Given the description of an element on the screen output the (x, y) to click on. 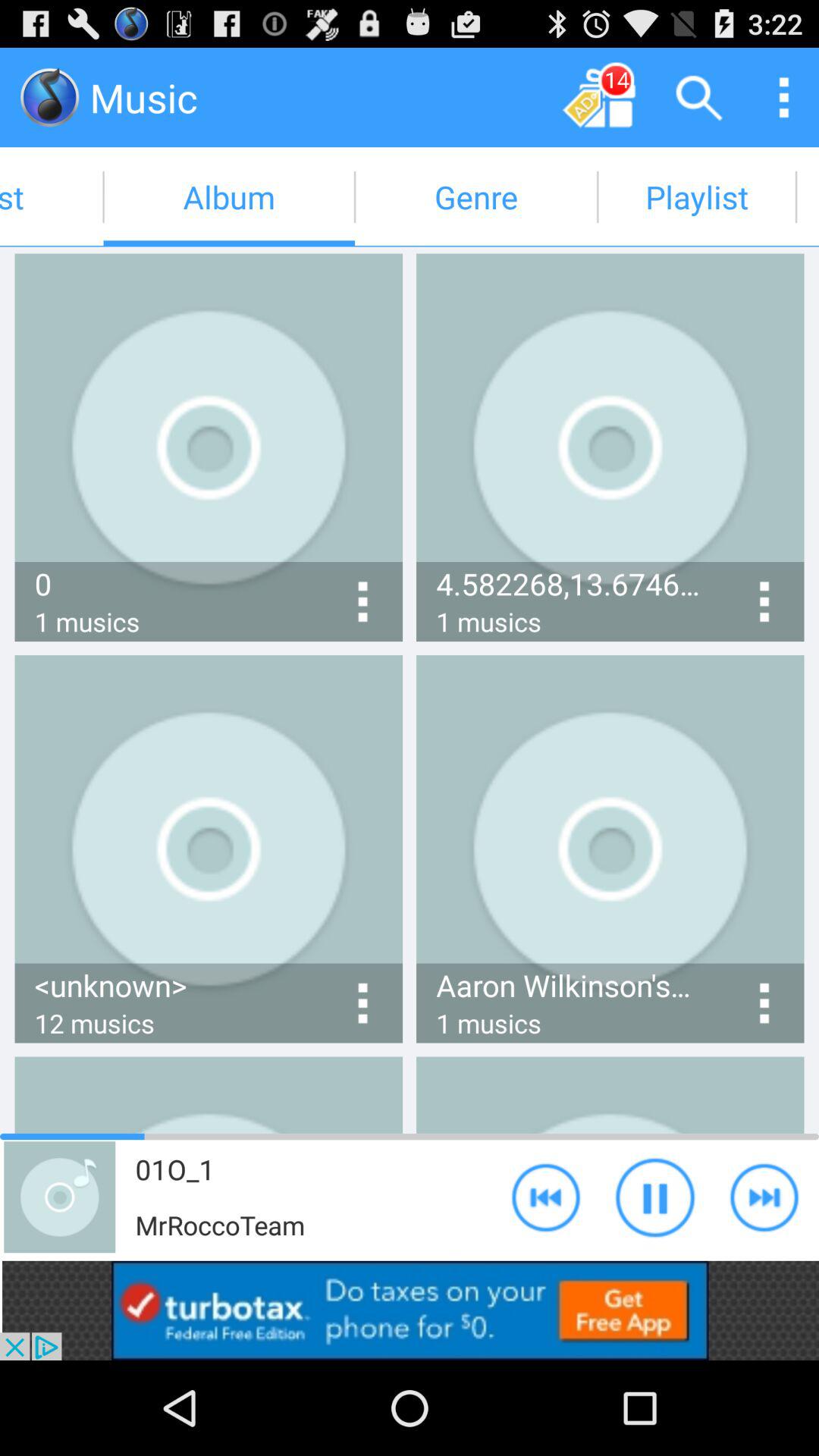
click the advertisement for turbotax (409, 1310)
